Given the description of an element on the screen output the (x, y) to click on. 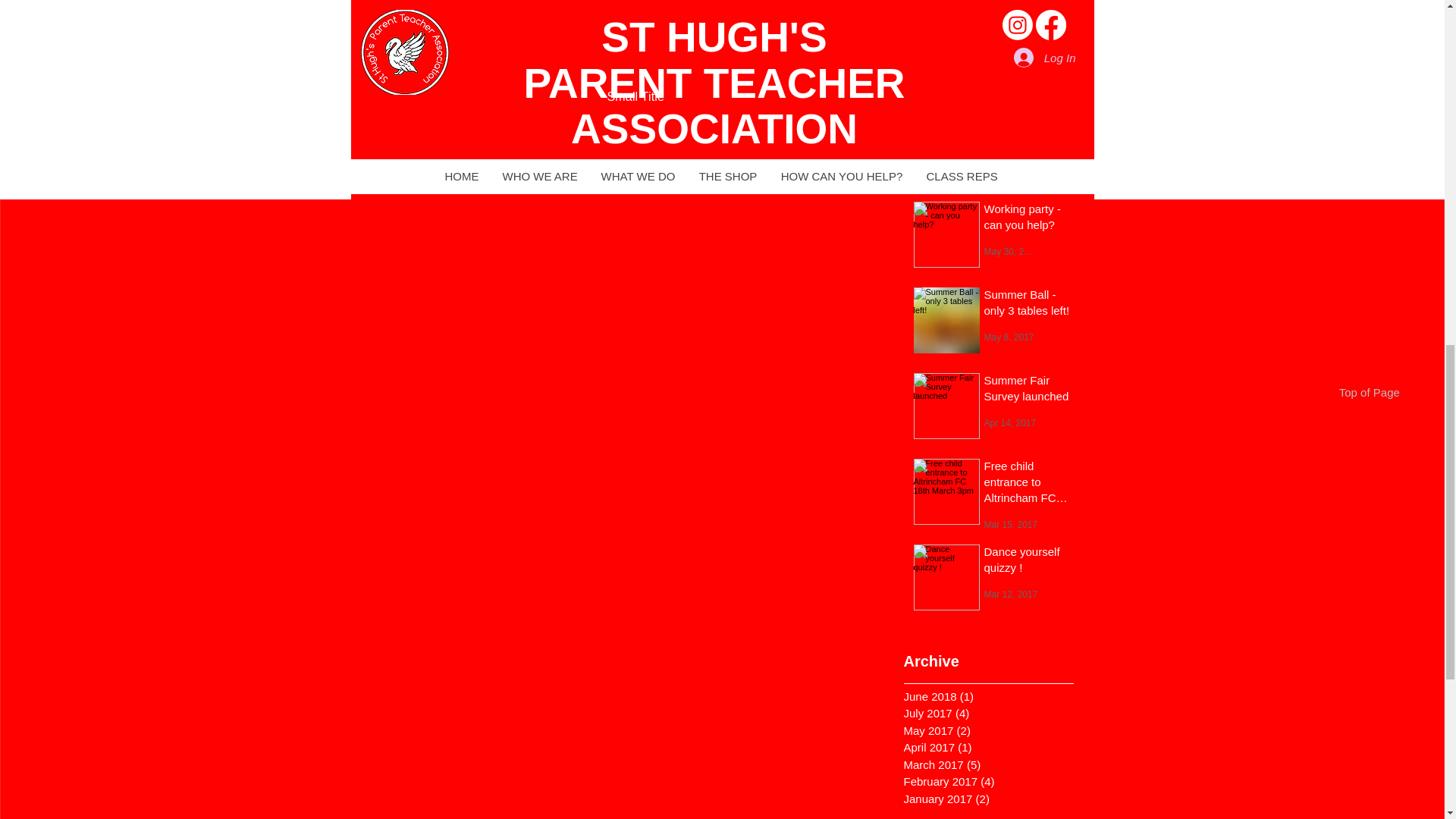
Dance yourself quizzy ! (1027, 561)
Jul 20, 2017 (1008, 9)
Christian's getting shirty (1027, 134)
May 30, 2017 (1011, 250)
Mar 12, 2017 (1011, 593)
May 8, 2017 (1008, 337)
Free child entrance to Altrincham FC 18th March 3pm (1027, 484)
Summer Ball - only 3 tables left! (1027, 305)
Mar 15, 2017 (1011, 523)
Apr 14, 2017 (1010, 421)
